Given the description of an element on the screen output the (x, y) to click on. 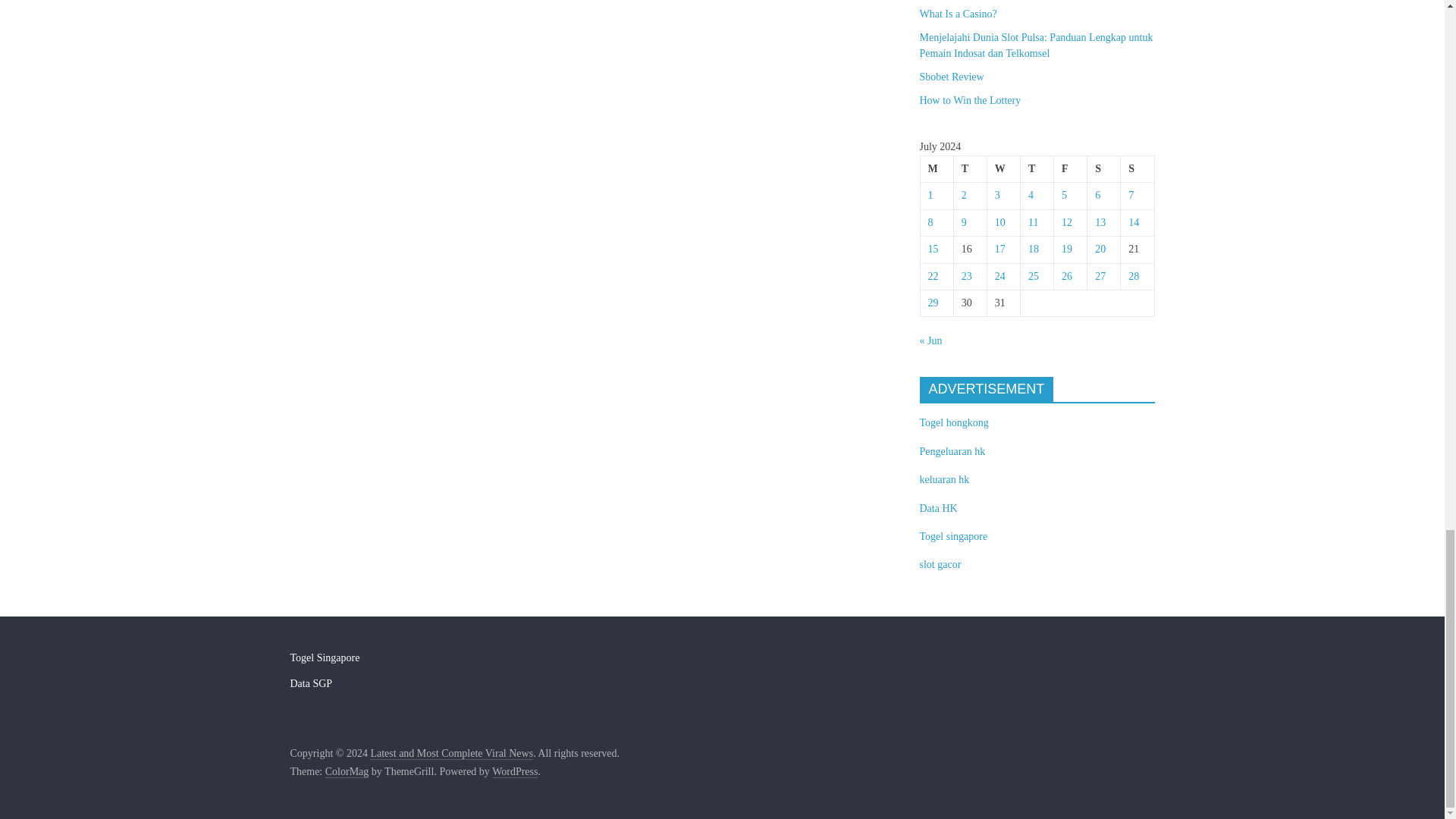
Wednesday (1003, 169)
Thursday (1036, 169)
Latest and Most Complete Viral News (450, 753)
Saturday (1104, 169)
Tuesday (970, 169)
ColorMag (346, 771)
Sunday (1137, 169)
WordPress (514, 771)
Friday (1070, 169)
Monday (936, 169)
